Given the description of an element on the screen output the (x, y) to click on. 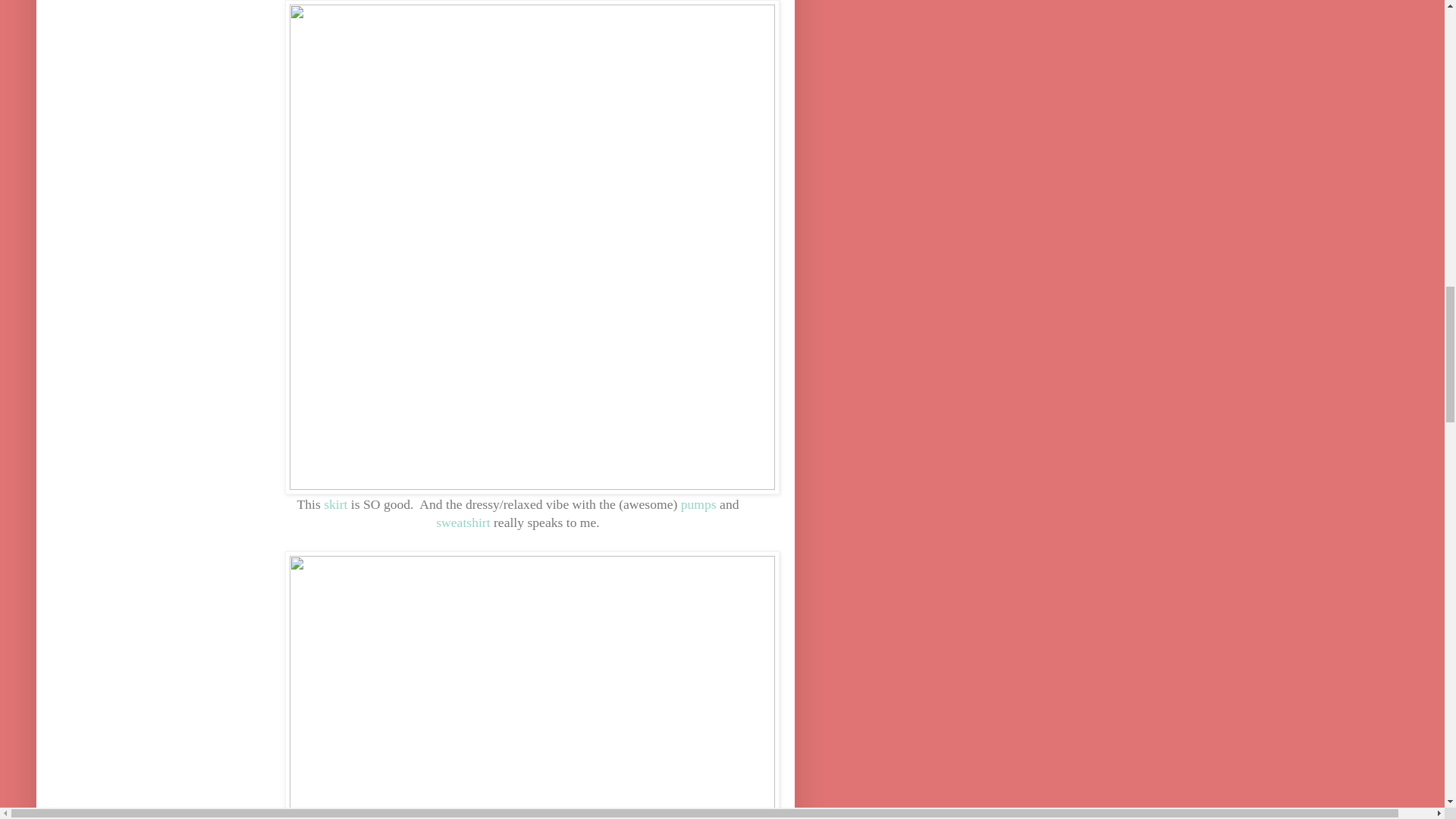
sweatshirt (462, 522)
skirt (335, 503)
pumps (696, 503)
